Given the description of an element on the screen output the (x, y) to click on. 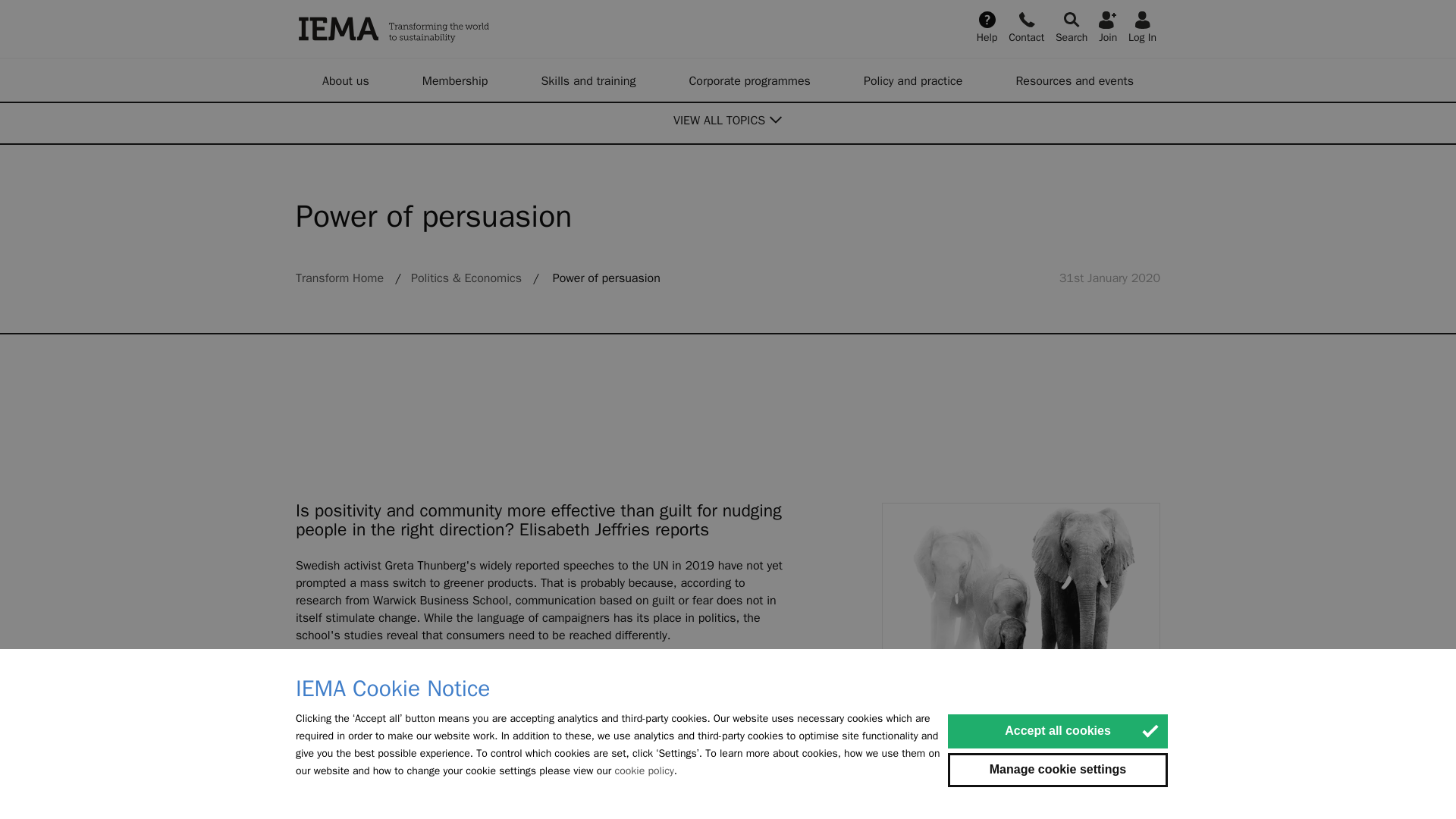
Contact (1026, 26)
IEMA (470, 28)
Membership (455, 79)
About us (345, 79)
